Given the description of an element on the screen output the (x, y) to click on. 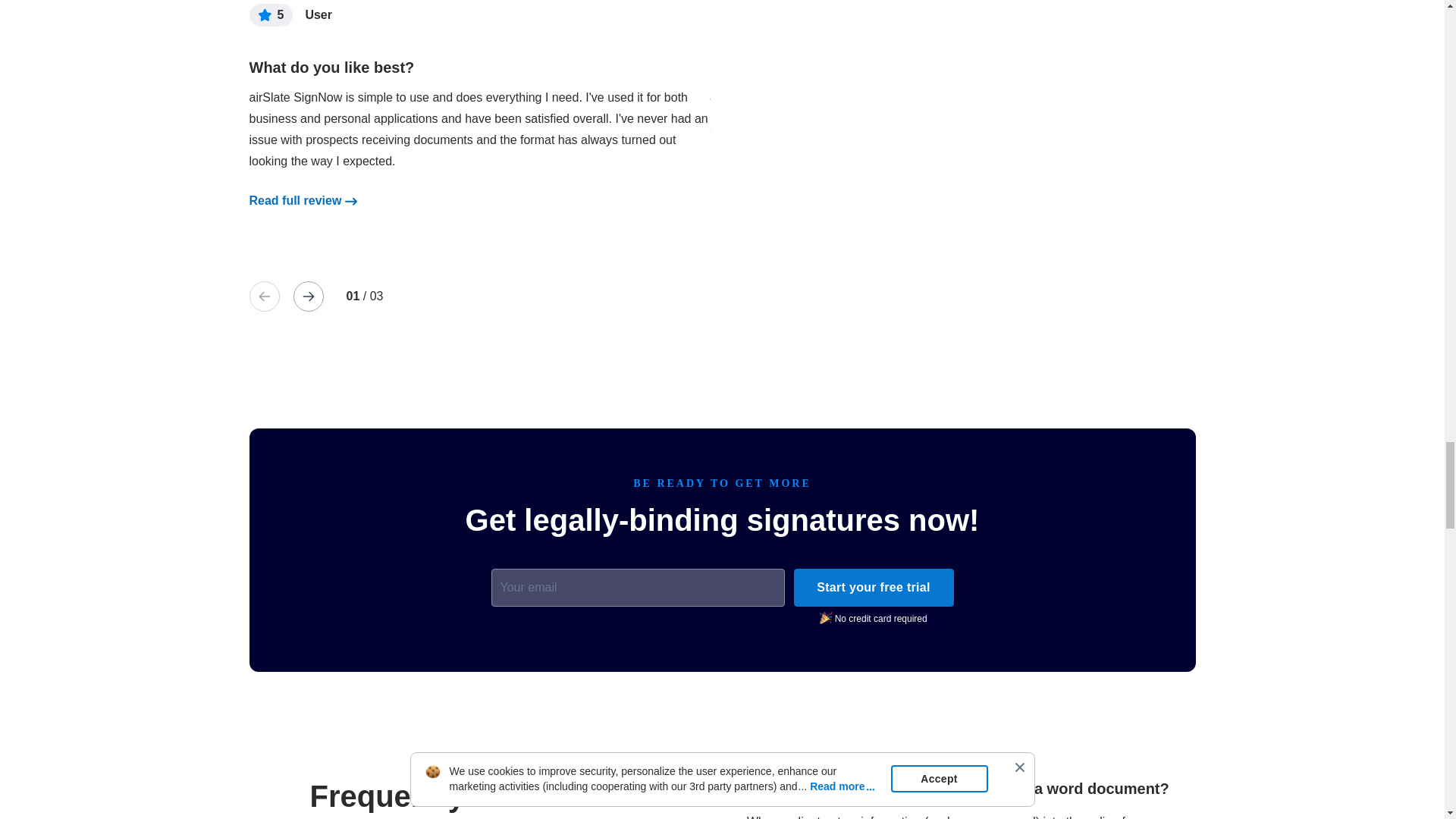
Easy to use, Read more (294, 200)
